Given the description of an element on the screen output the (x, y) to click on. 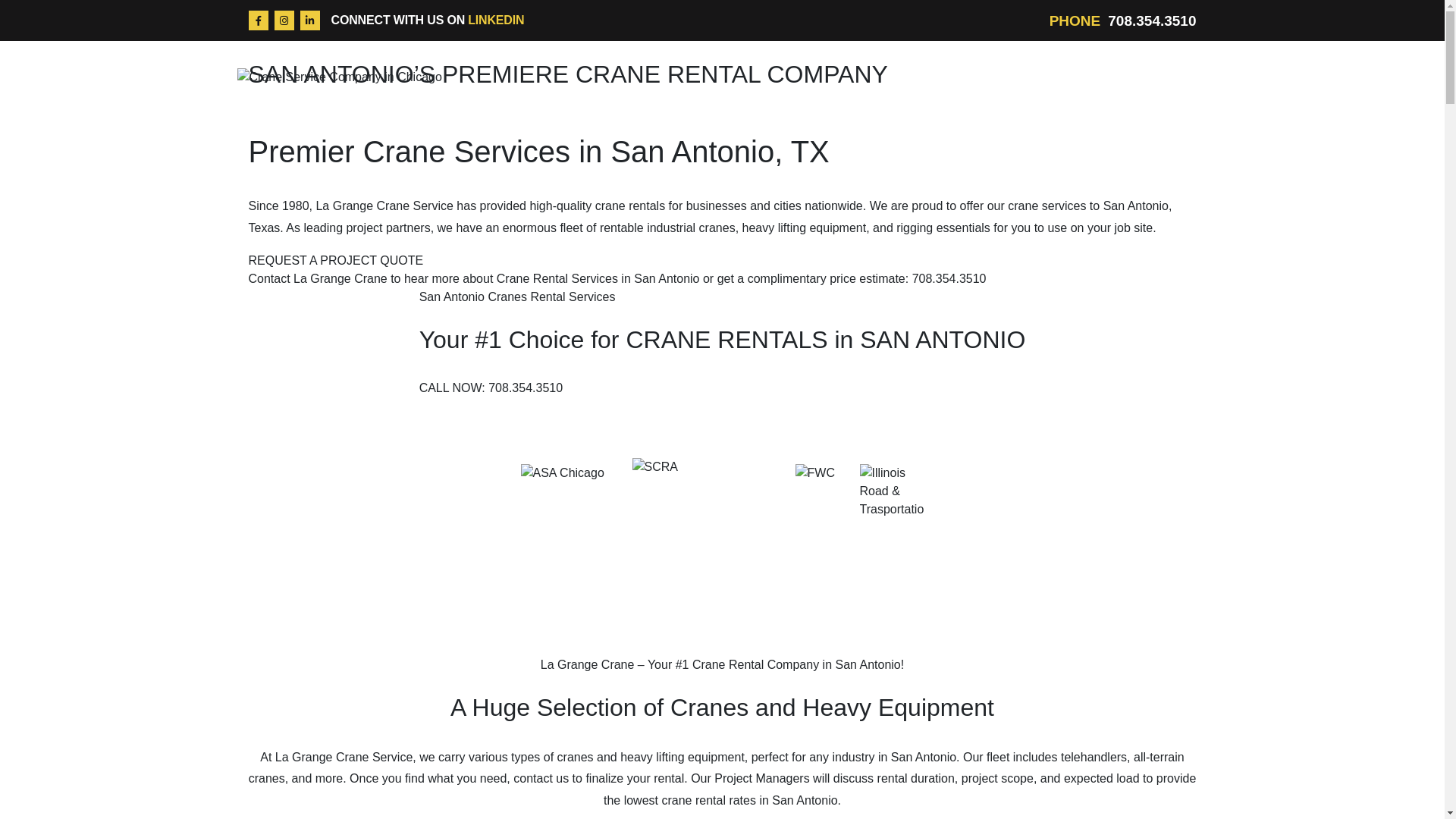
AREAS WE SERVE (618, 94)
SERVICES (510, 94)
La Grange Crane Service, Inc. (338, 75)
Facebook (257, 20)
Services (510, 94)
Home (275, 94)
Linkedin (309, 20)
Areas We Serve (618, 94)
708.354.3510 (1151, 20)
Linkedin (309, 20)
LINKEDIN (495, 19)
HOME (275, 94)
Facebook (257, 20)
Projects (428, 94)
Rentals (345, 94)
